Given the description of an element on the screen output the (x, y) to click on. 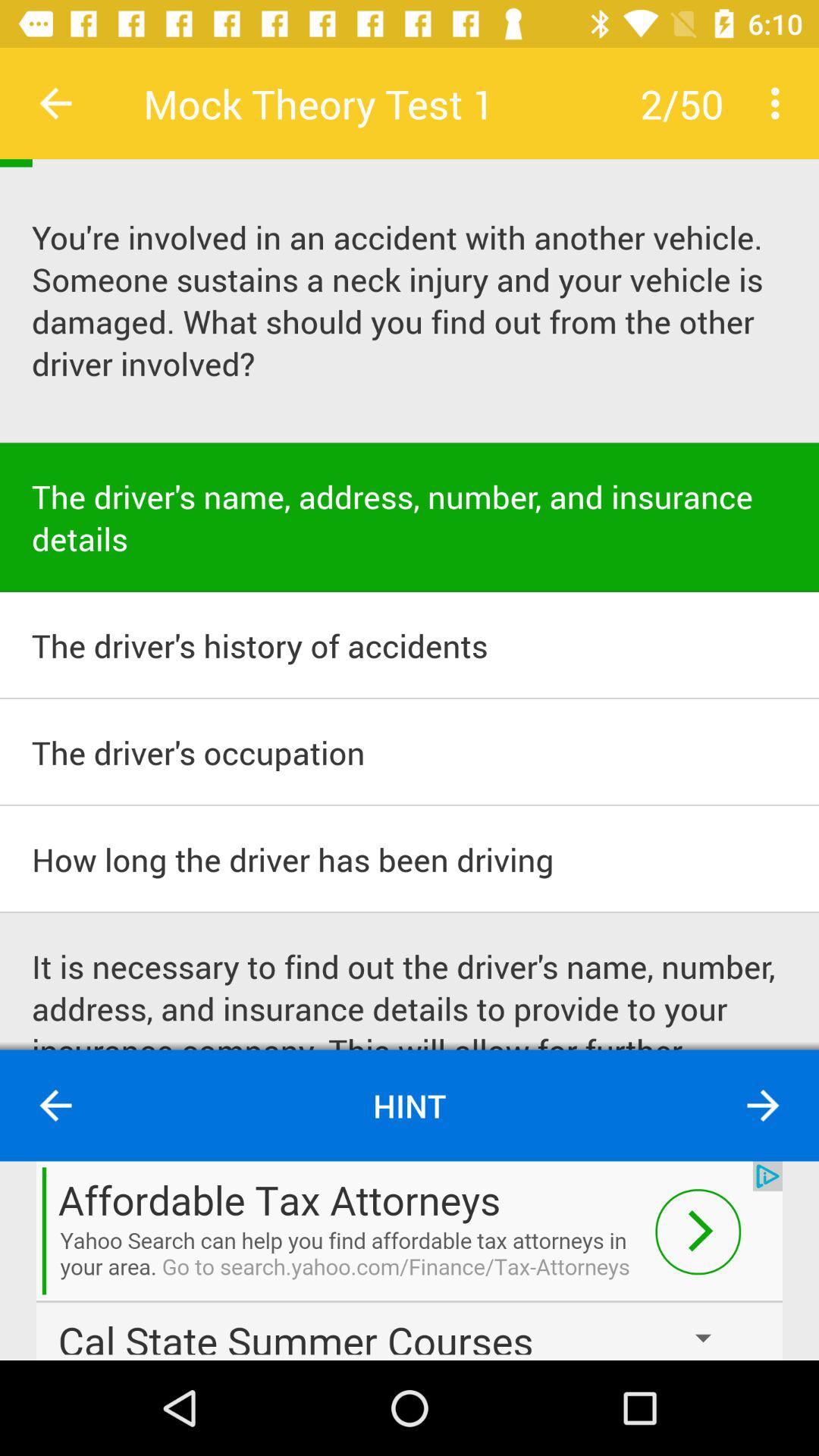
go back (55, 1105)
